Given the description of an element on the screen output the (x, y) to click on. 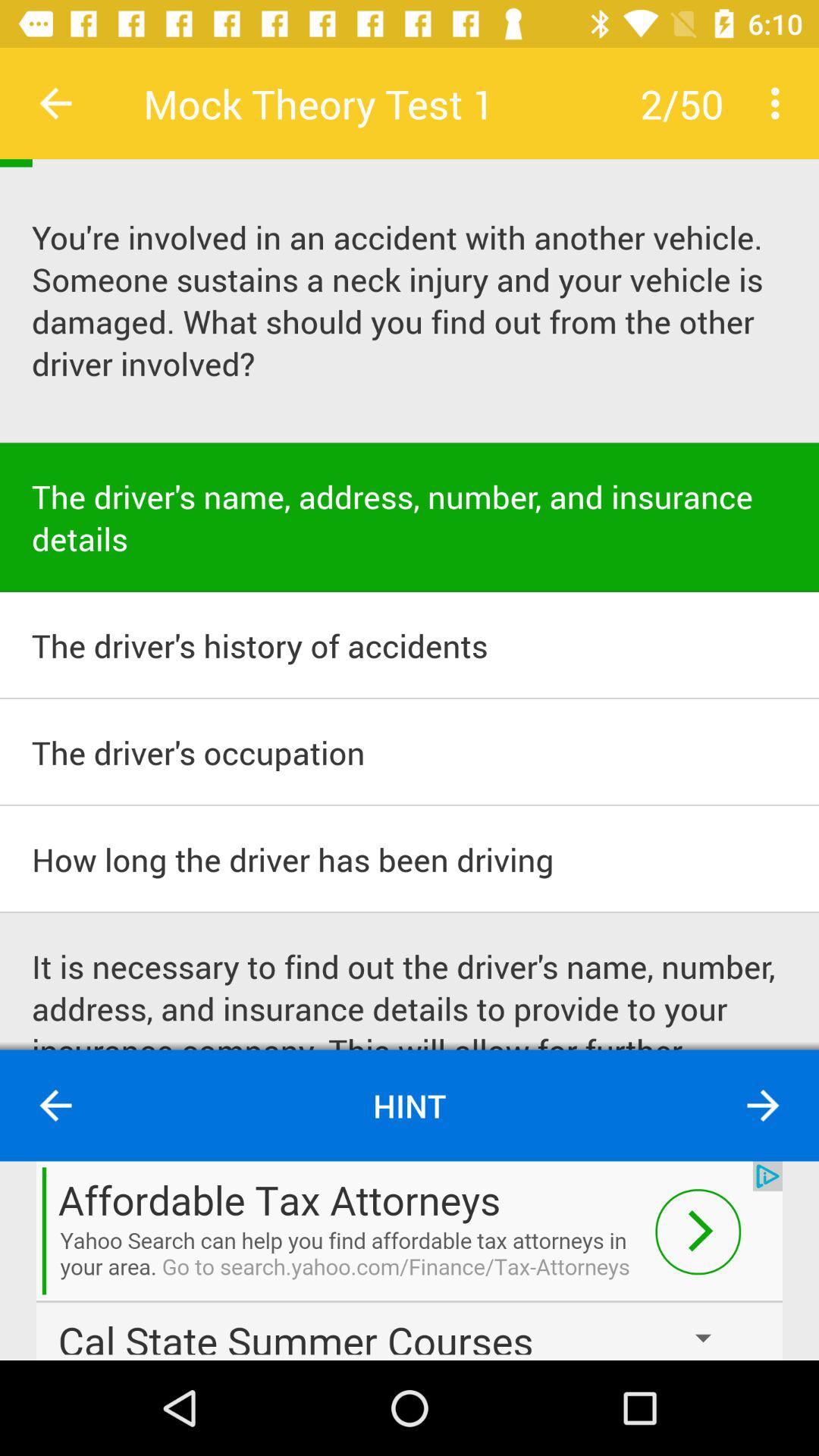
go back (55, 1105)
